Given the description of an element on the screen output the (x, y) to click on. 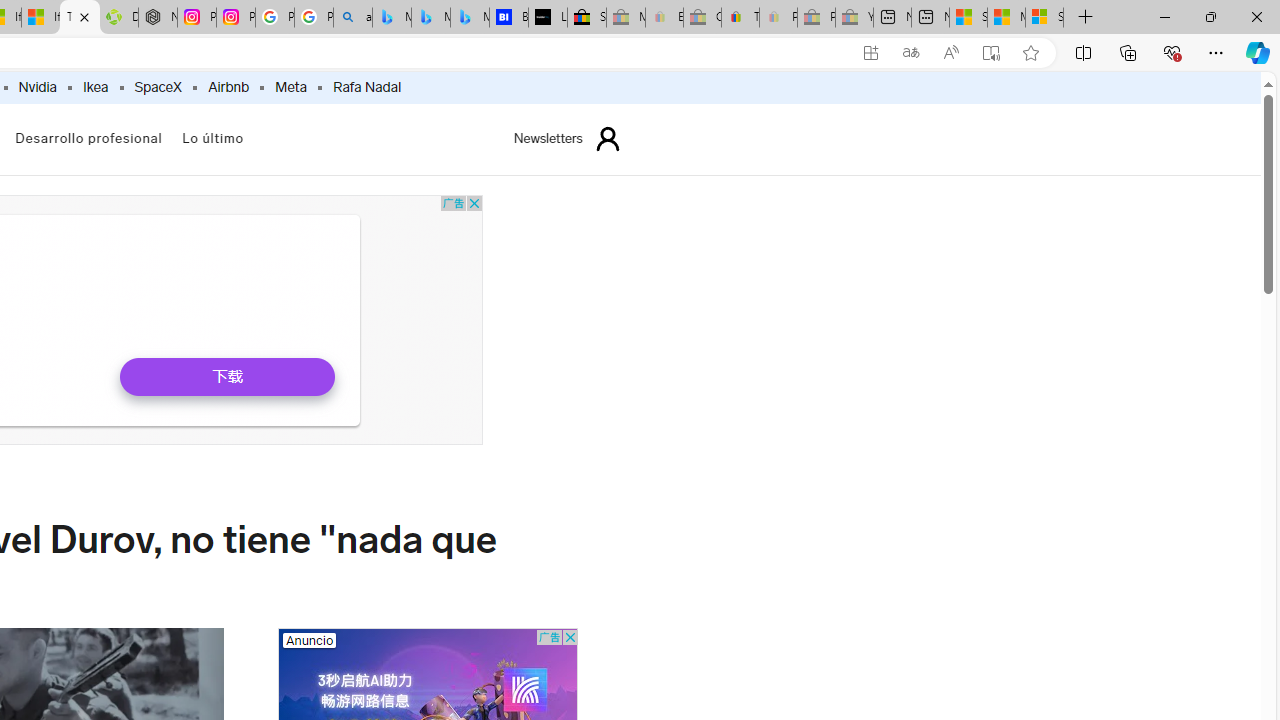
Airbnb (228, 88)
Press Room - eBay Inc. - Sleeping (815, 17)
SpaceX (157, 88)
SpaceX (157, 88)
Microsoft Bing Travel - Flights from Hong Kong to Bangkok (391, 17)
Nvidia (37, 88)
Meta (290, 88)
Selling on eBay | Electronics, Fashion, Home & Garden | eBay (586, 17)
